Given the description of an element on the screen output the (x, y) to click on. 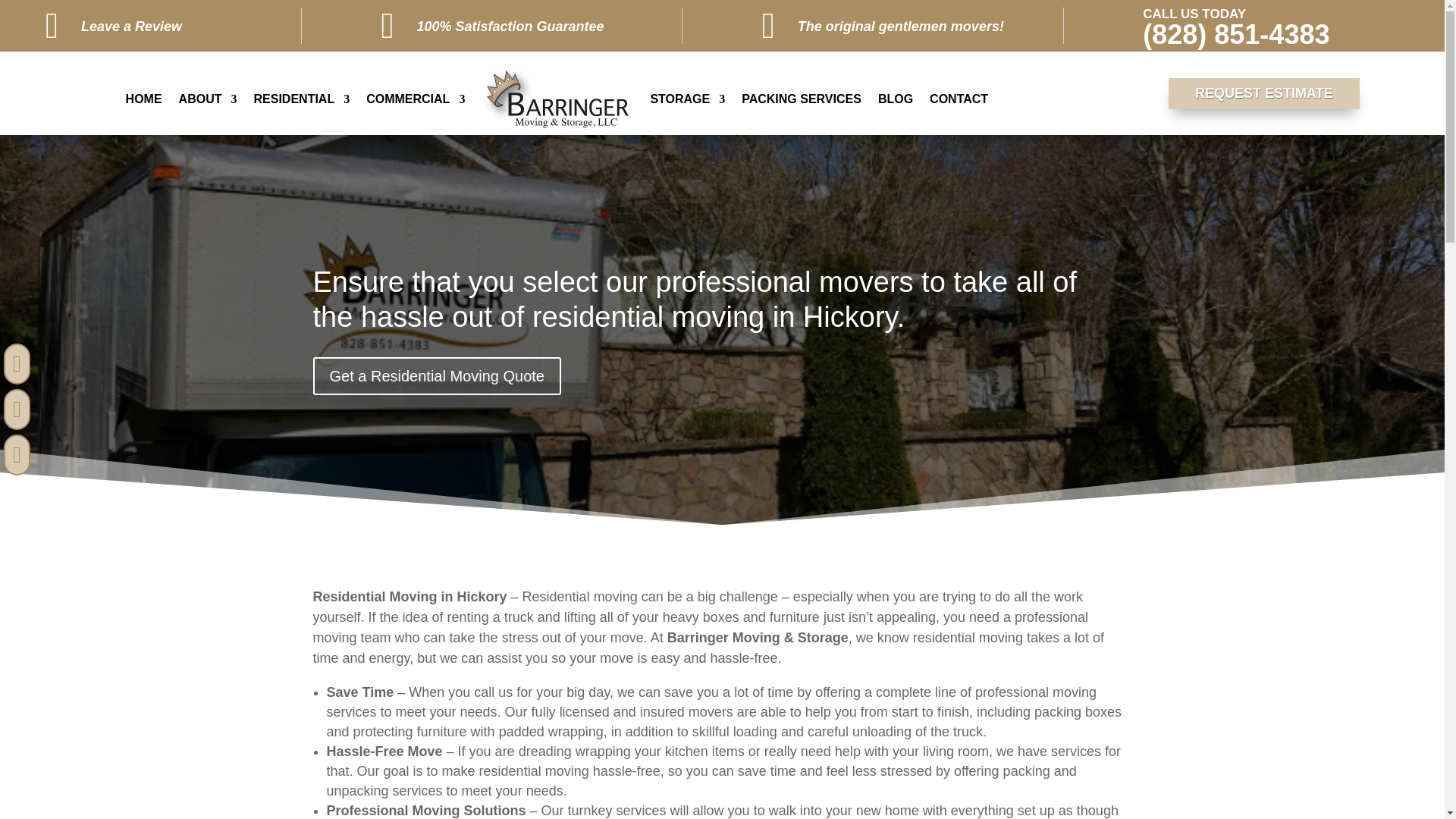
RESIDENTIAL (301, 98)
ABOUT (208, 98)
Leave a Review (131, 26)
CONTACT (959, 98)
PACKING SERVICES (801, 98)
STORAGE (687, 98)
COMMERCIAL (415, 98)
